Given the description of an element on the screen output the (x, y) to click on. 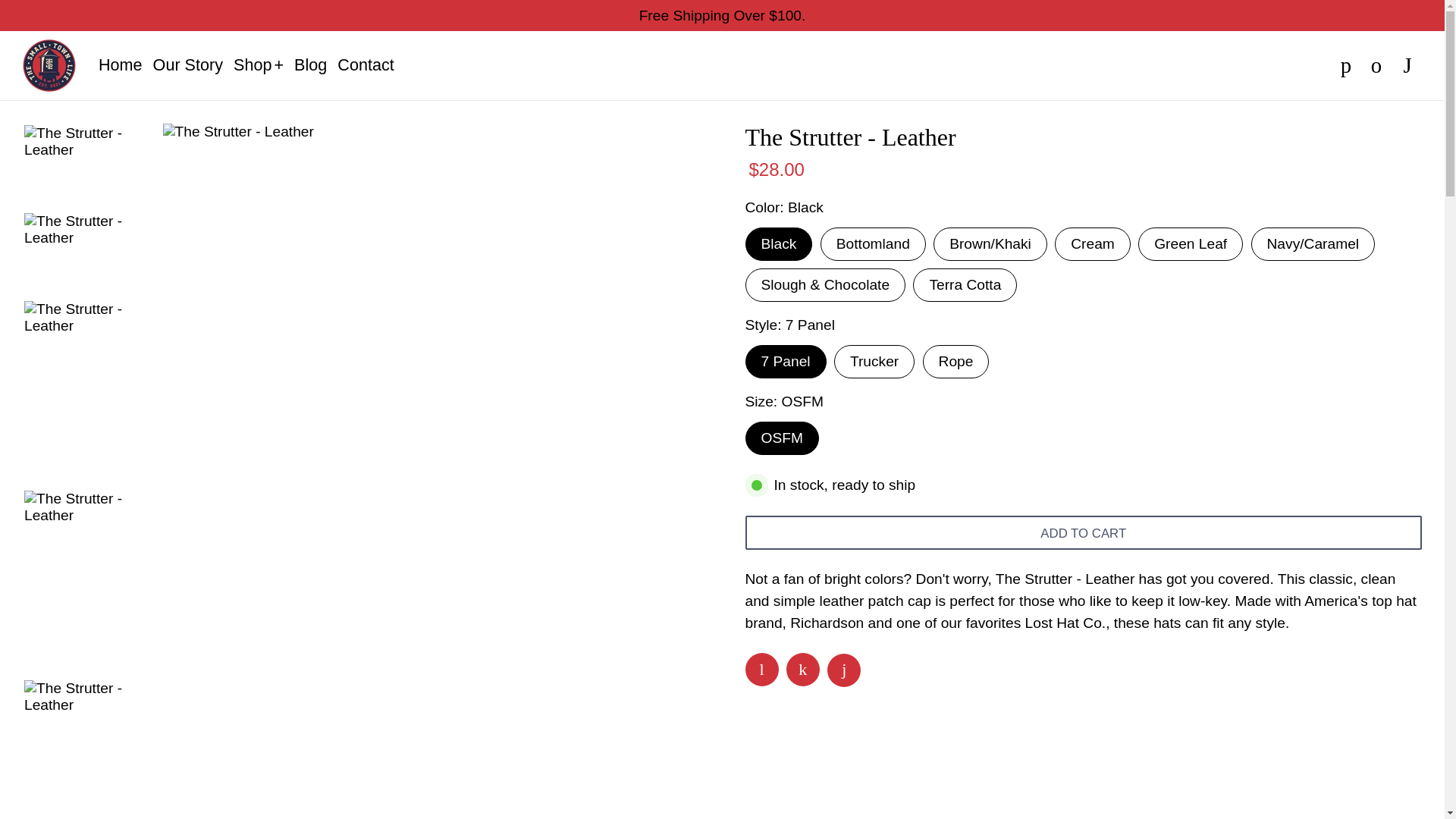
Home (120, 65)
Share on Twitter (802, 669)
Contact (365, 65)
Share on Facebook (760, 669)
Share on Pinterest (843, 670)
Our Story (187, 65)
